Given the description of an element on the screen output the (x, y) to click on. 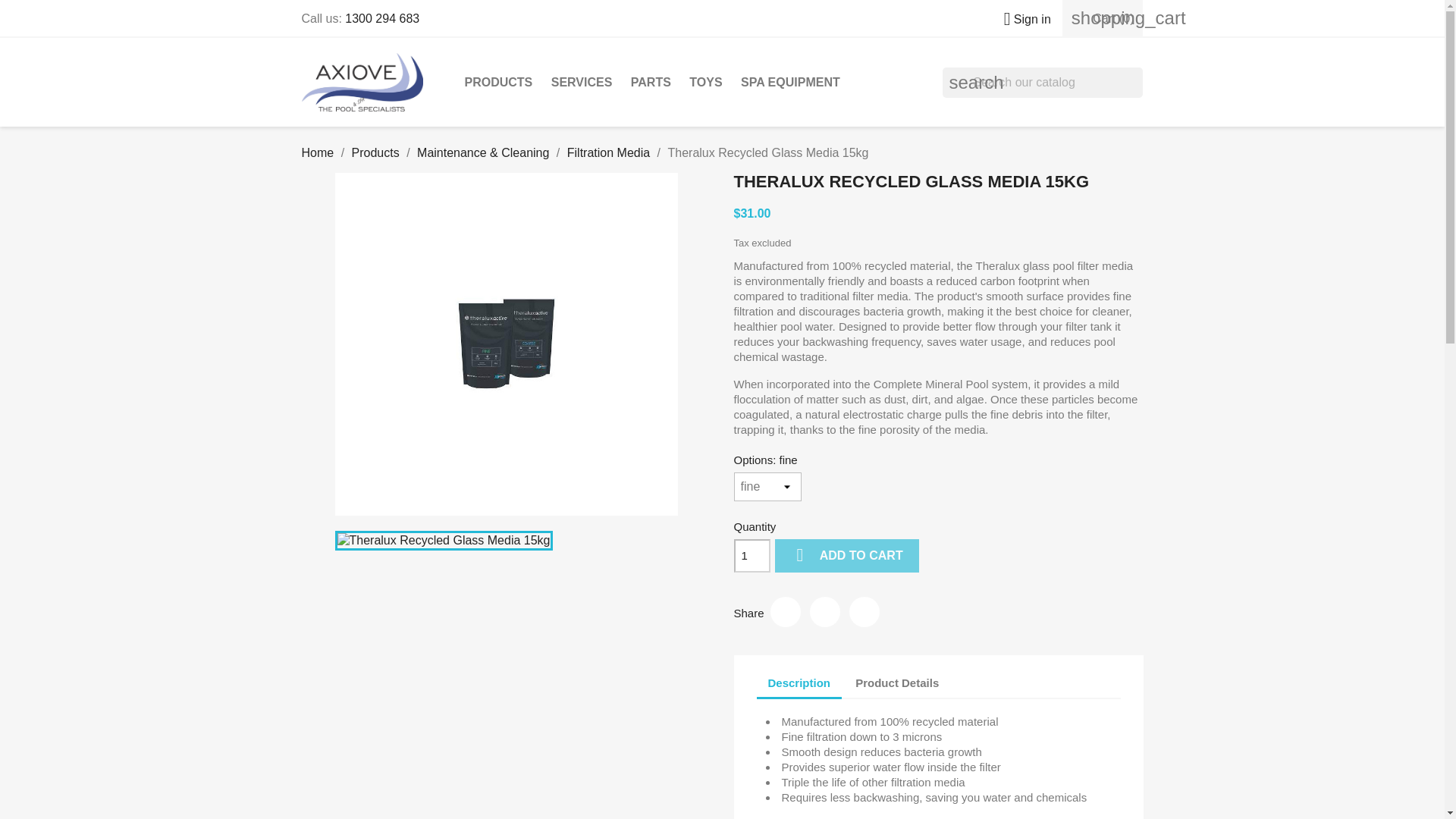
Tweet (824, 612)
1 (751, 555)
Pinterest (863, 612)
Log in to your customer account (1020, 19)
Share (785, 612)
PRODUCTS (498, 82)
1300 294 683 (382, 18)
